Given the description of an element on the screen output the (x, y) to click on. 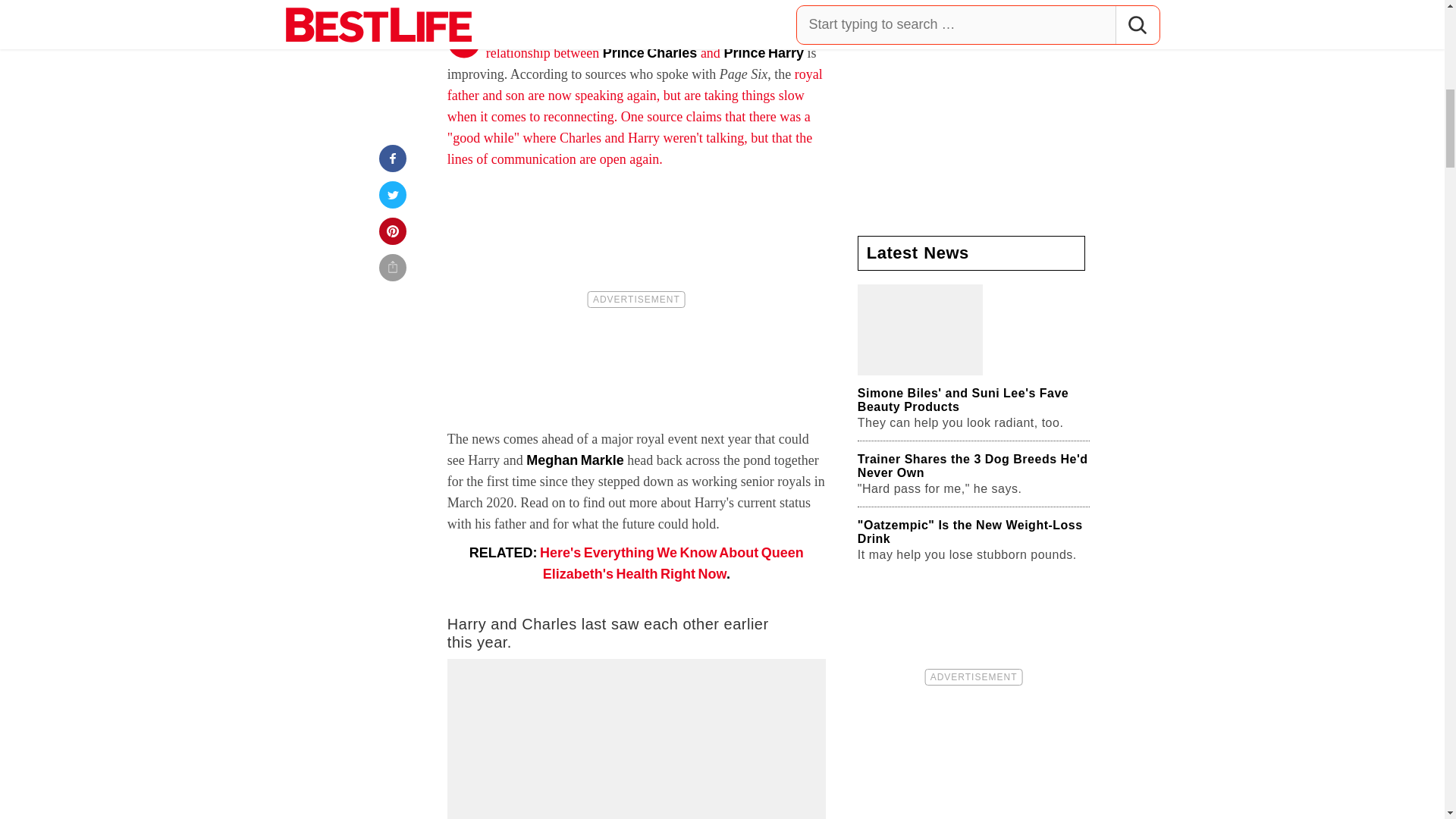
Share via email (392, 2)
relationship between Prince Charles and Prince Harry (644, 52)
RELATED:  (504, 552)
